Given the description of an element on the screen output the (x, y) to click on. 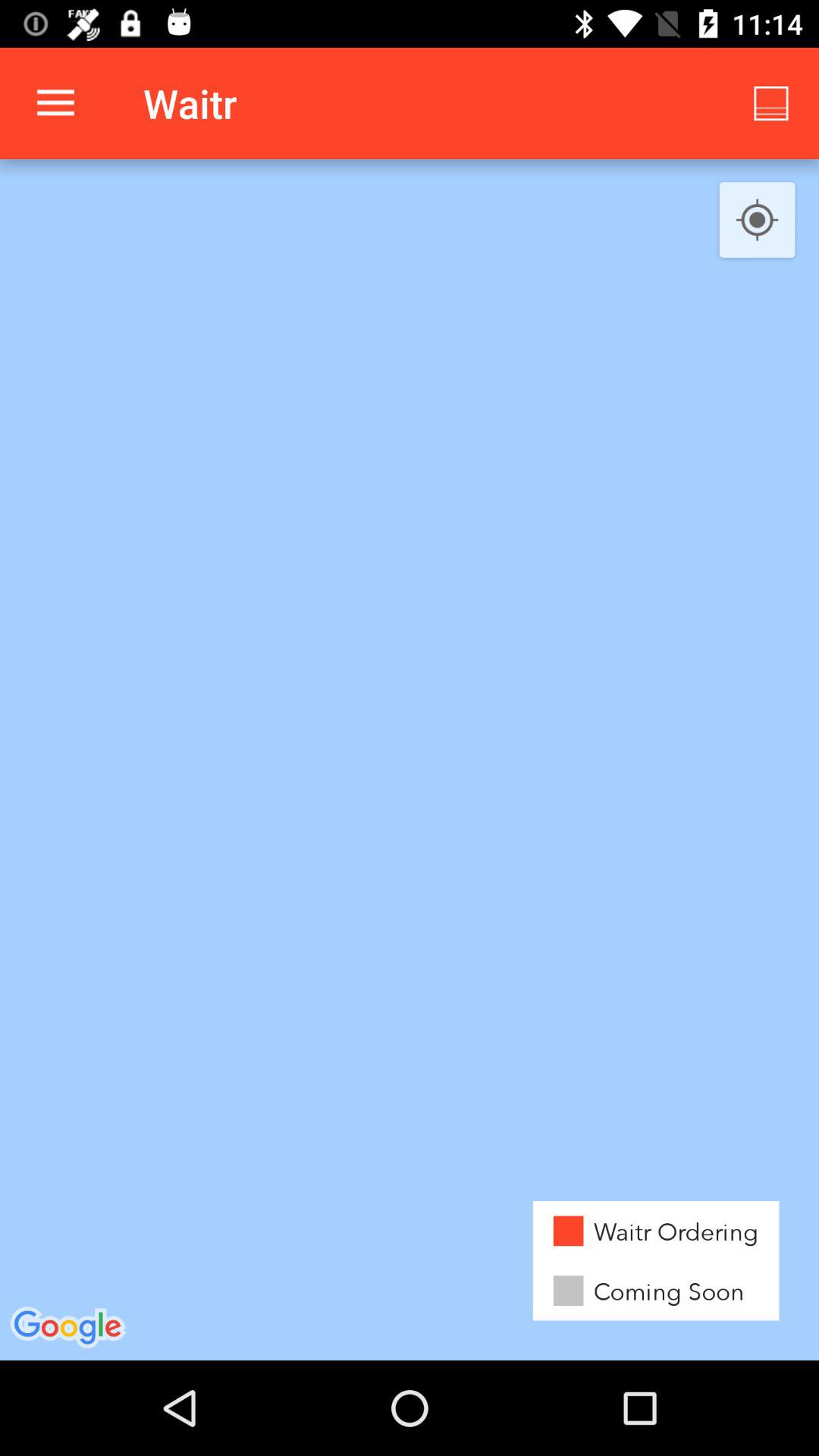
press icon to the right of the waitr (771, 103)
